Given the description of an element on the screen output the (x, y) to click on. 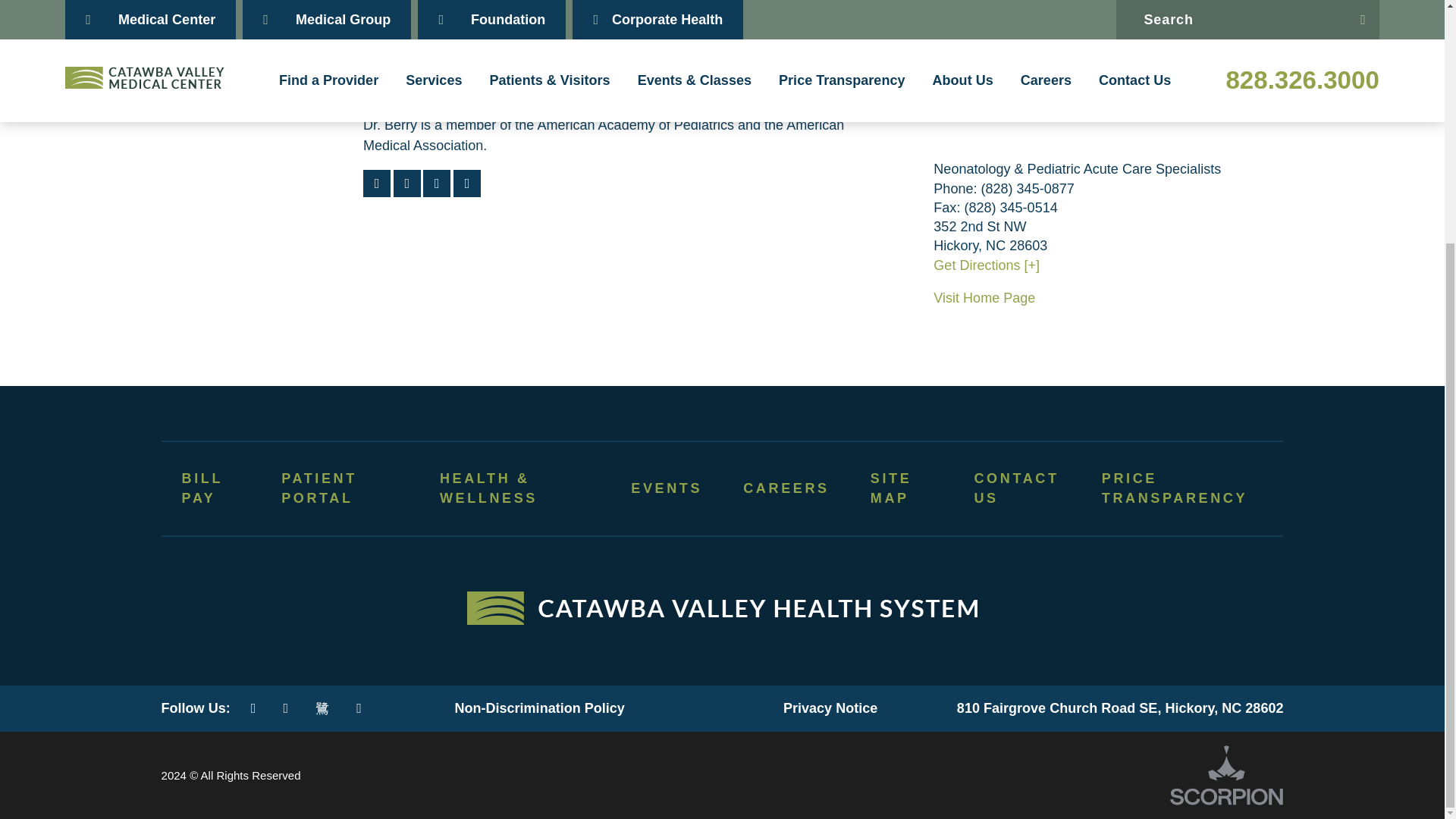
Catawba Valley Medical Center (721, 607)
David D. Berry MD (245, 51)
Scorpion Healthcare (1226, 775)
